Given the description of an element on the screen output the (x, y) to click on. 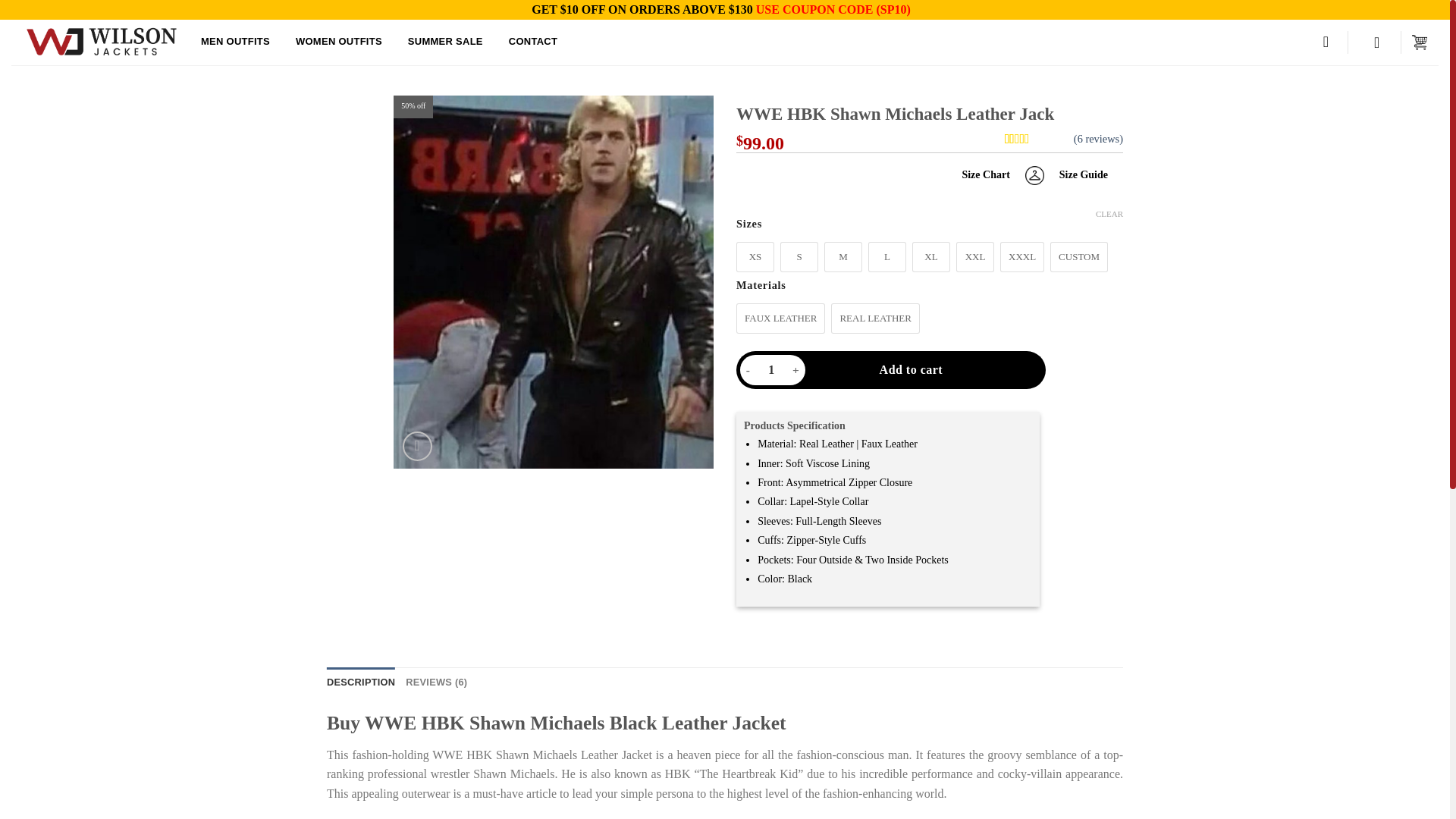
Qty (770, 369)
Size Guide (1082, 174)
SUMMER SALE (445, 42)
Wilson Jackets (100, 41)
MEN OUTFITS (234, 42)
CONTACT (532, 42)
Zoom (1039, 138)
Size Chart (417, 446)
Add to cart (992, 174)
CLEAR (911, 369)
WOMEN OUTFITS (1109, 213)
1 (338, 42)
